Given the description of an element on the screen output the (x, y) to click on. 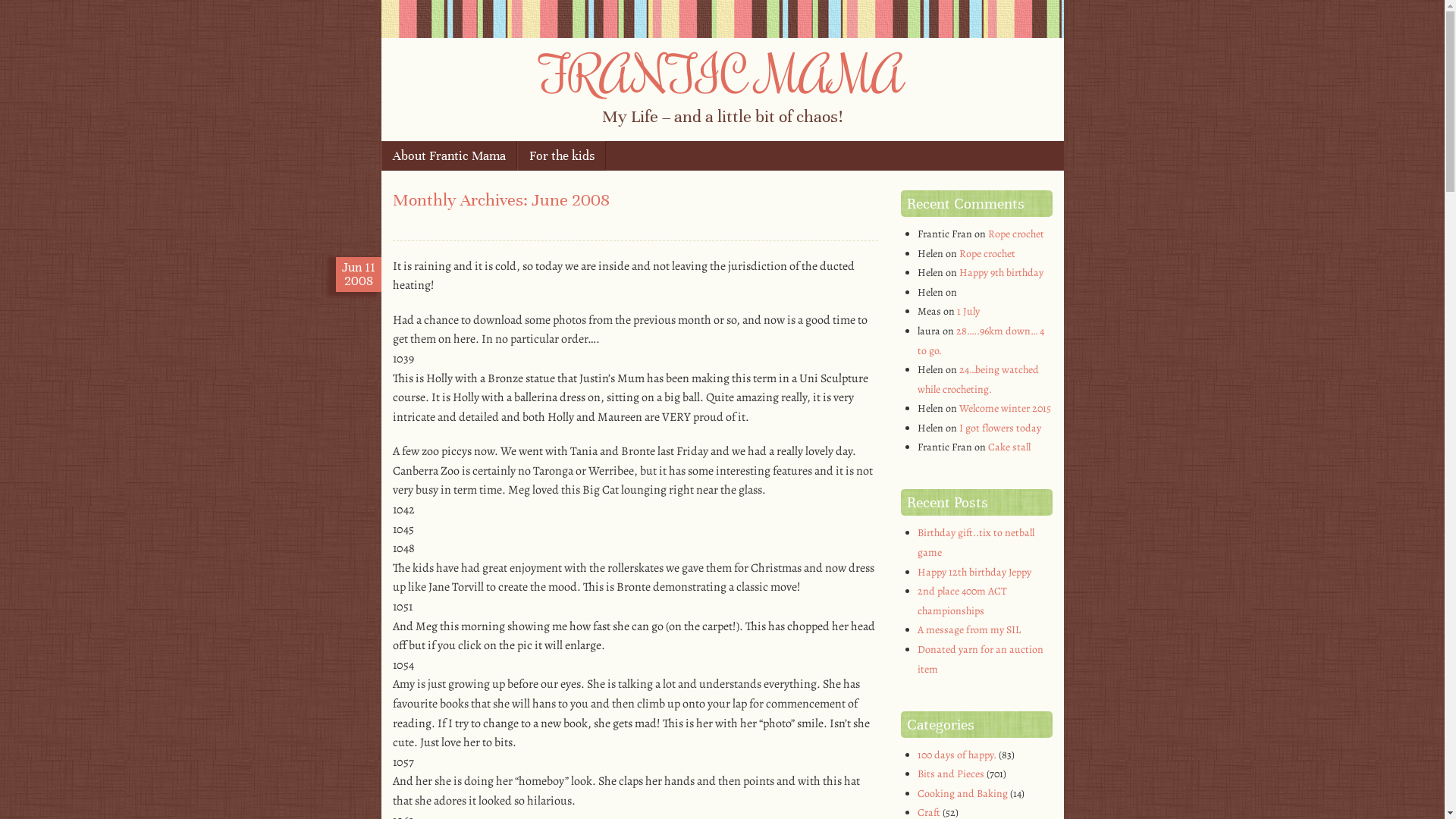
About Frantic Mama Element type: text (448, 155)
Bits and Pieces Element type: text (950, 773)
2nd place 400m ACT championships Element type: text (962, 600)
For the kids Element type: text (561, 155)
I got flowers today Element type: text (1000, 427)
Happy 9th birthday Element type: text (1001, 272)
Happy 12th birthday Jeppy Element type: text (974, 571)
Donated yarn for an auction item Element type: text (980, 659)
FRANTIC MAMA Element type: text (721, 73)
Welcome winter 2015 Element type: text (1005, 408)
Rope crochet Element type: text (987, 253)
A message from my SIL Element type: text (968, 629)
Skip to content Element type: text (433, 155)
Cooking and Baking Element type: text (962, 793)
Cake stall Element type: text (1009, 446)
1 July Element type: text (968, 311)
Birthday gift..tix to netball game Element type: text (975, 542)
Jun 11 2008 Element type: text (358, 274)
Rope crochet Element type: text (1016, 233)
100 days of happy. Element type: text (956, 754)
